Given the description of an element on the screen output the (x, y) to click on. 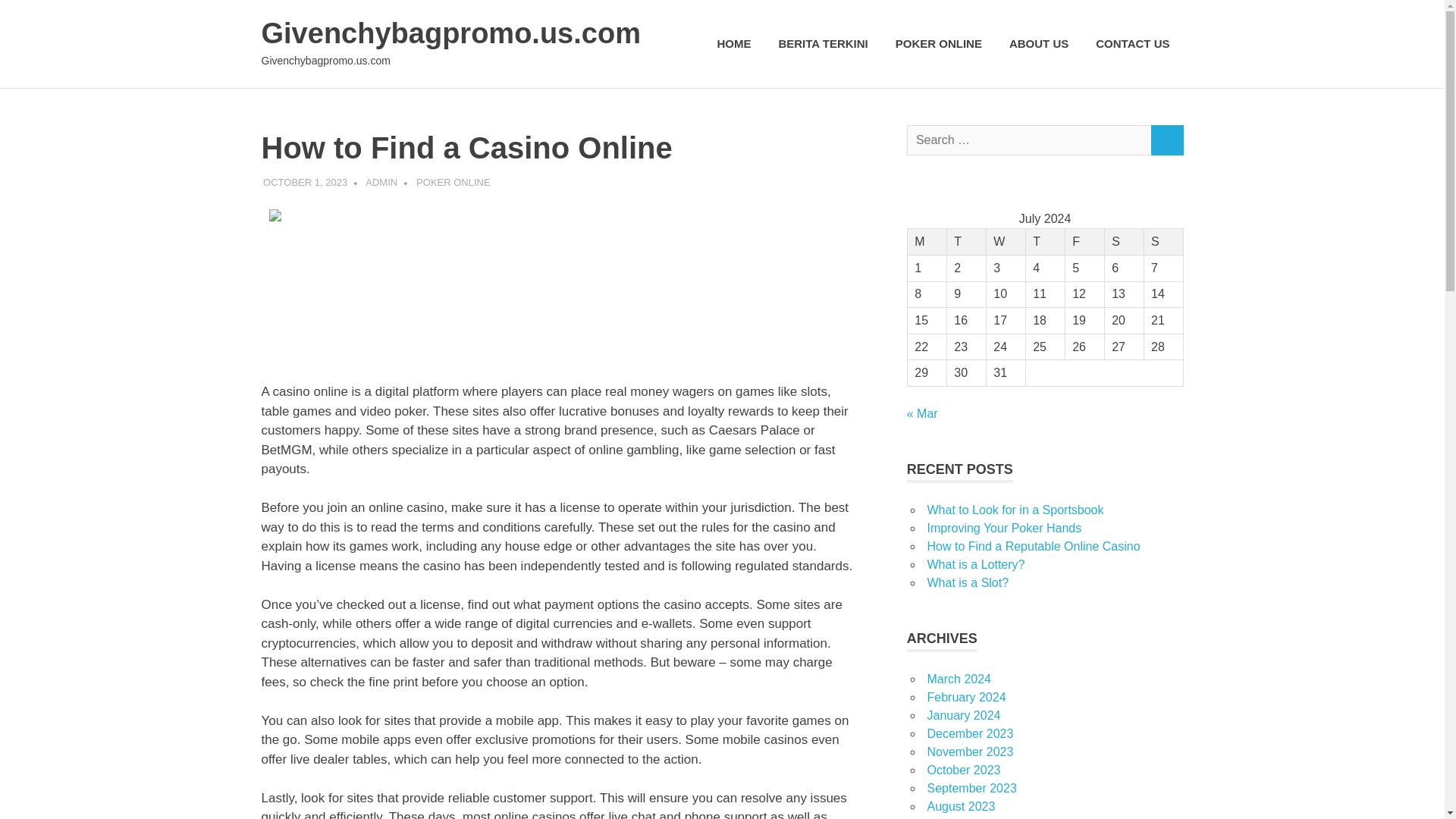
Search for: (1029, 140)
November 2023 (969, 751)
OCTOBER 1, 2023 (305, 182)
HOME (733, 44)
POKER ONLINE (453, 182)
CONTACT US (1131, 44)
August 2023 (960, 806)
July 2023 (952, 818)
March 2024 (958, 678)
What is a Lottery? (975, 563)
Thursday (1044, 242)
Sunday (1162, 242)
Friday (1083, 242)
January 2024 (963, 715)
ADMIN (381, 182)
